Given the description of an element on the screen output the (x, y) to click on. 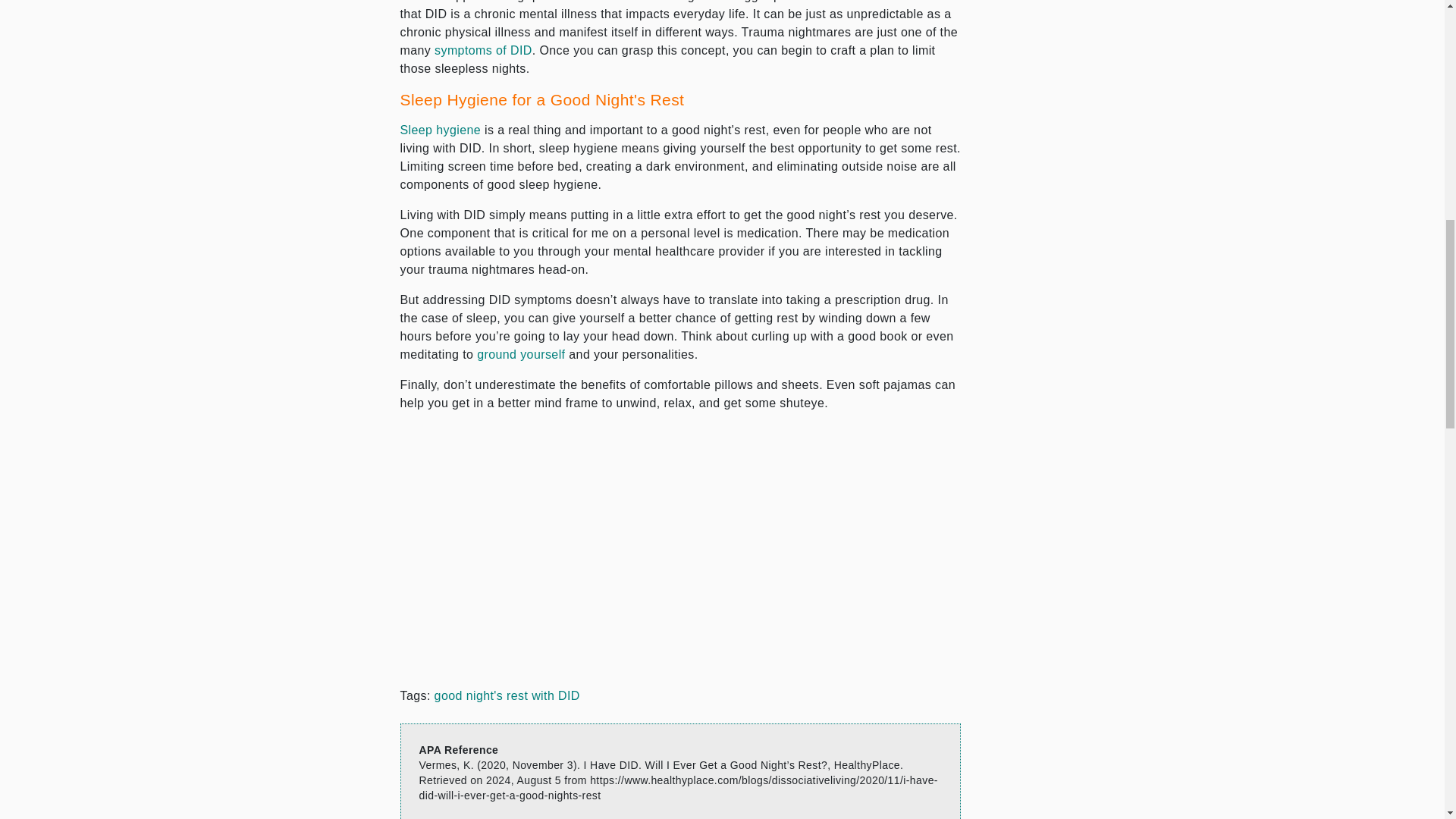
Top 21 Anxiety Grounding Techniques (520, 354)
What Does Good Sleep Hygiene Mean? (440, 129)
What Does Good Sleep Hygiene Mean? (482, 50)
